Given the description of an element on the screen output the (x, y) to click on. 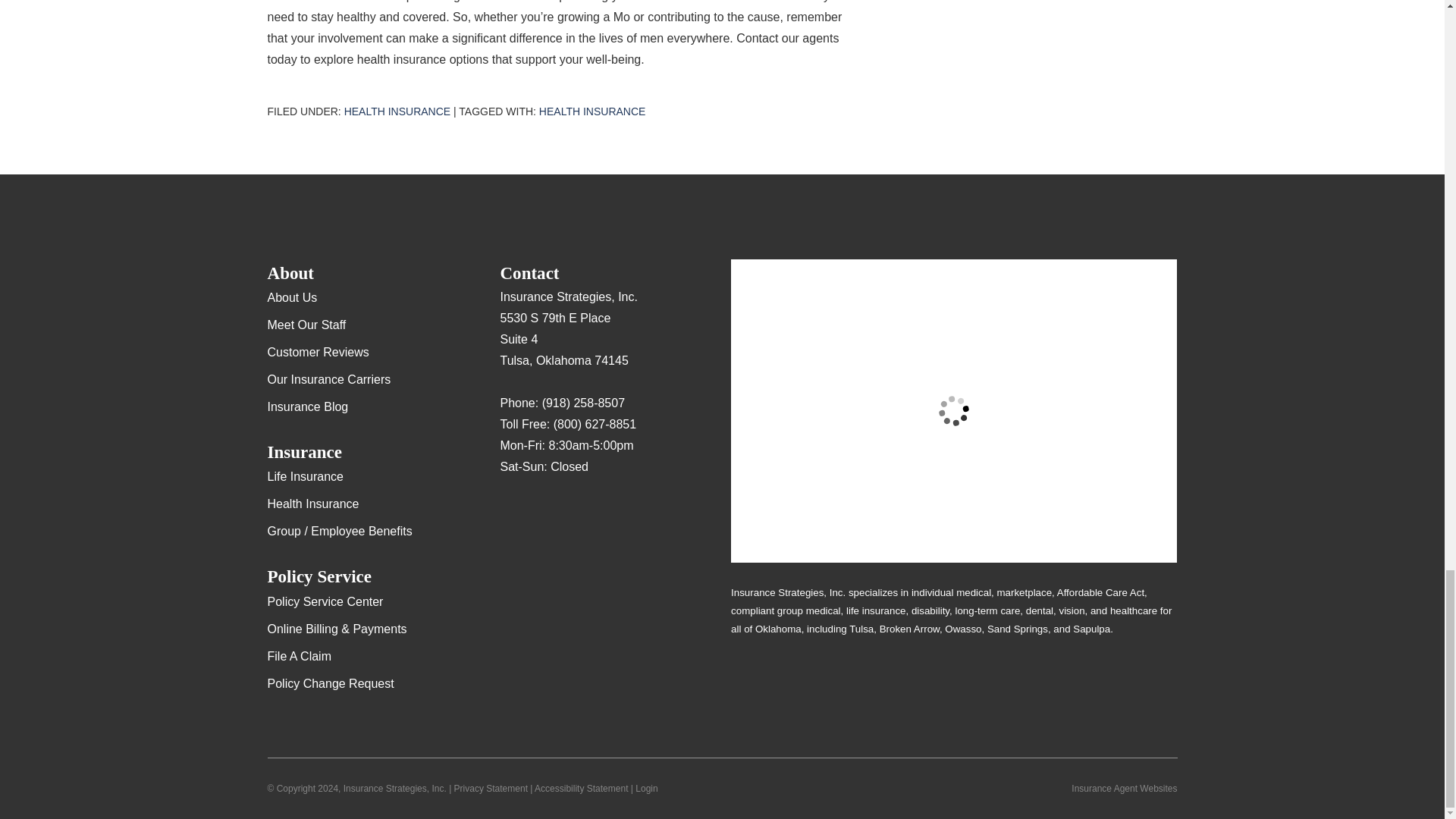
Google Maps (511, 511)
Health Insurance (397, 111)
Yelp (541, 511)
Health Insurance (592, 111)
Facebook (571, 511)
